Given the description of an element on the screen output the (x, y) to click on. 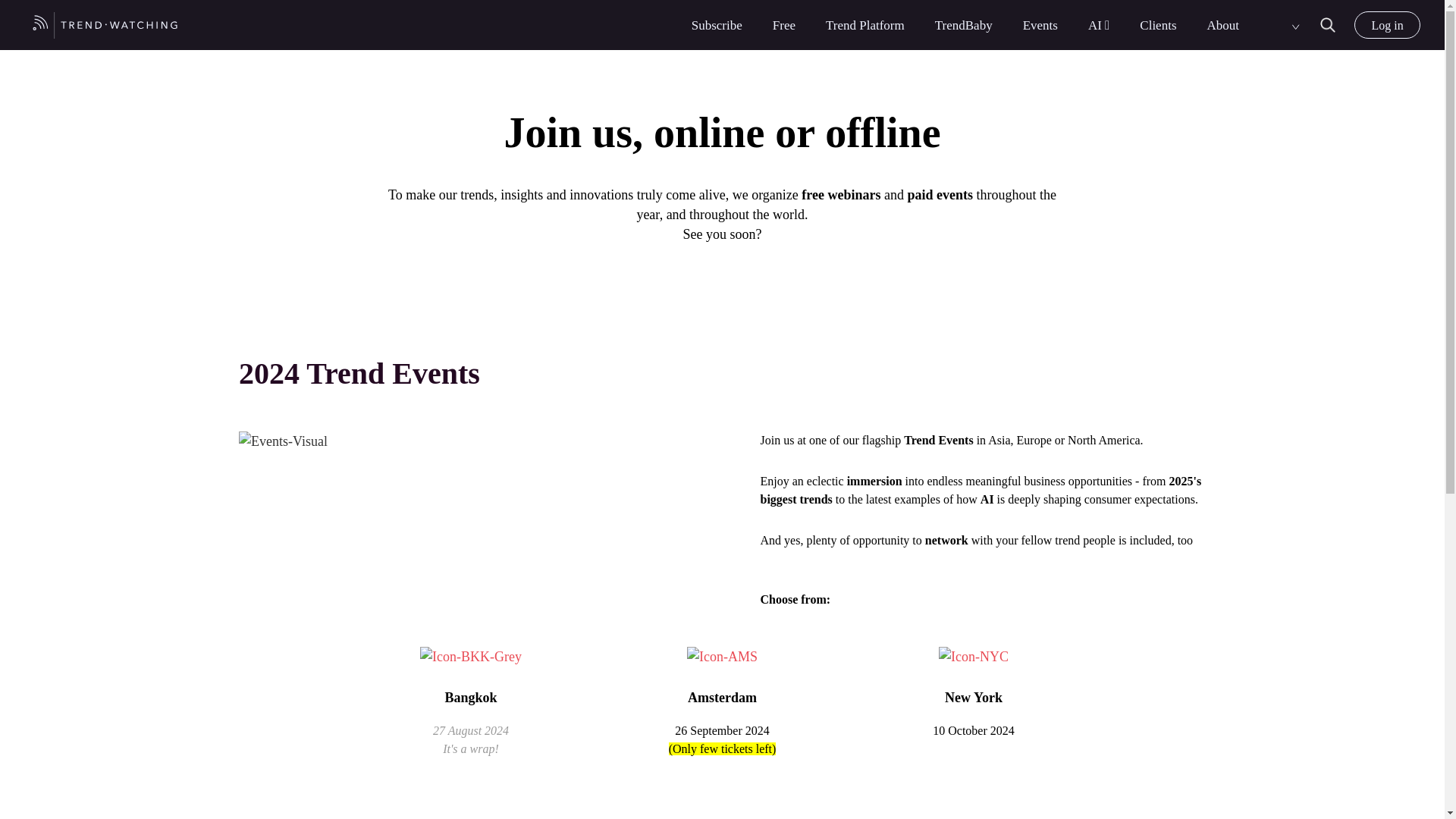
Events (1040, 25)
TrendBaby (963, 25)
Trend Platform (864, 25)
About (1223, 25)
Clients (1158, 25)
Free (783, 25)
Subscribe (716, 25)
